Given the description of an element on the screen output the (x, y) to click on. 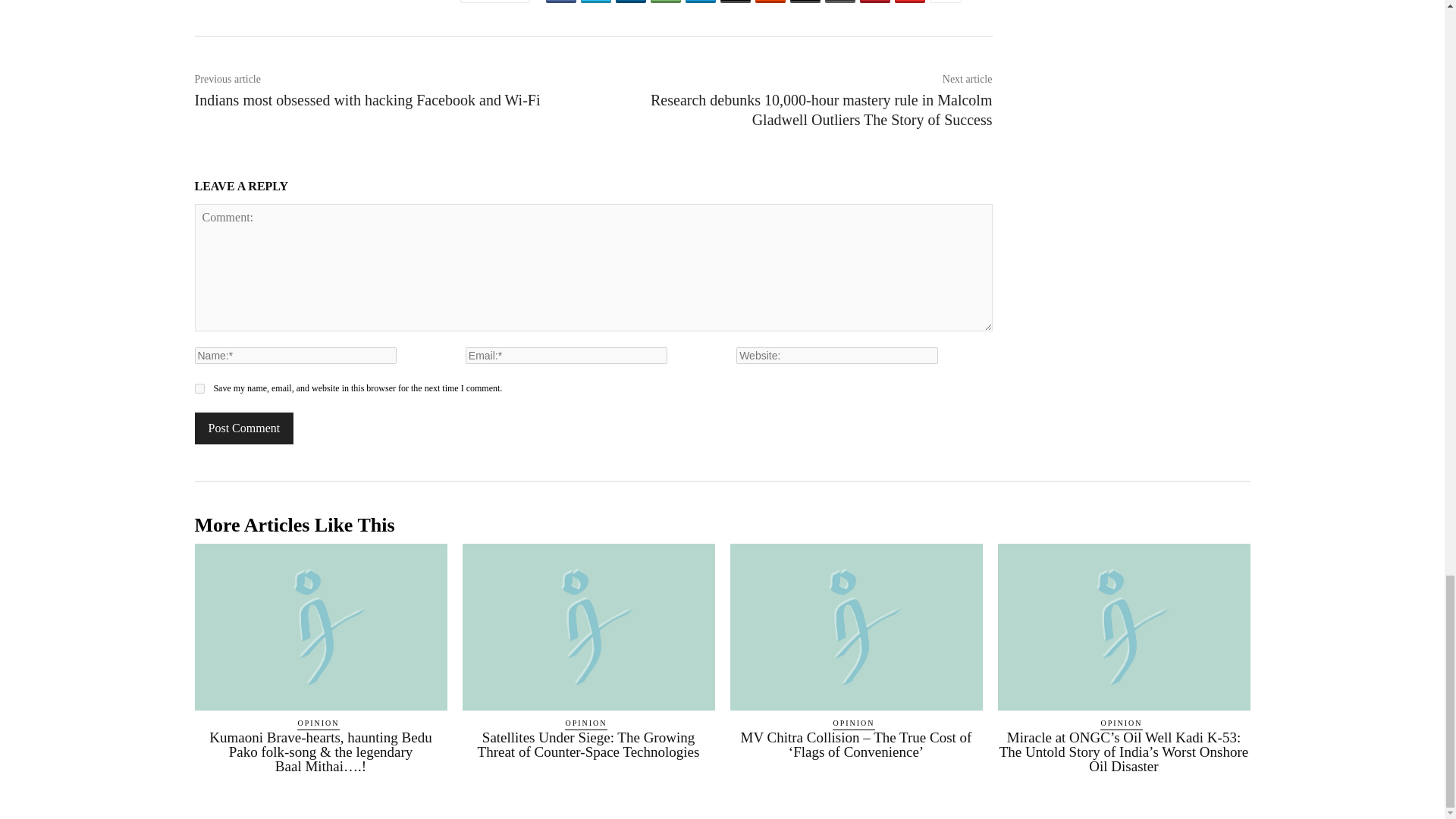
Post Comment (243, 428)
yes (198, 388)
